Given the description of an element on the screen output the (x, y) to click on. 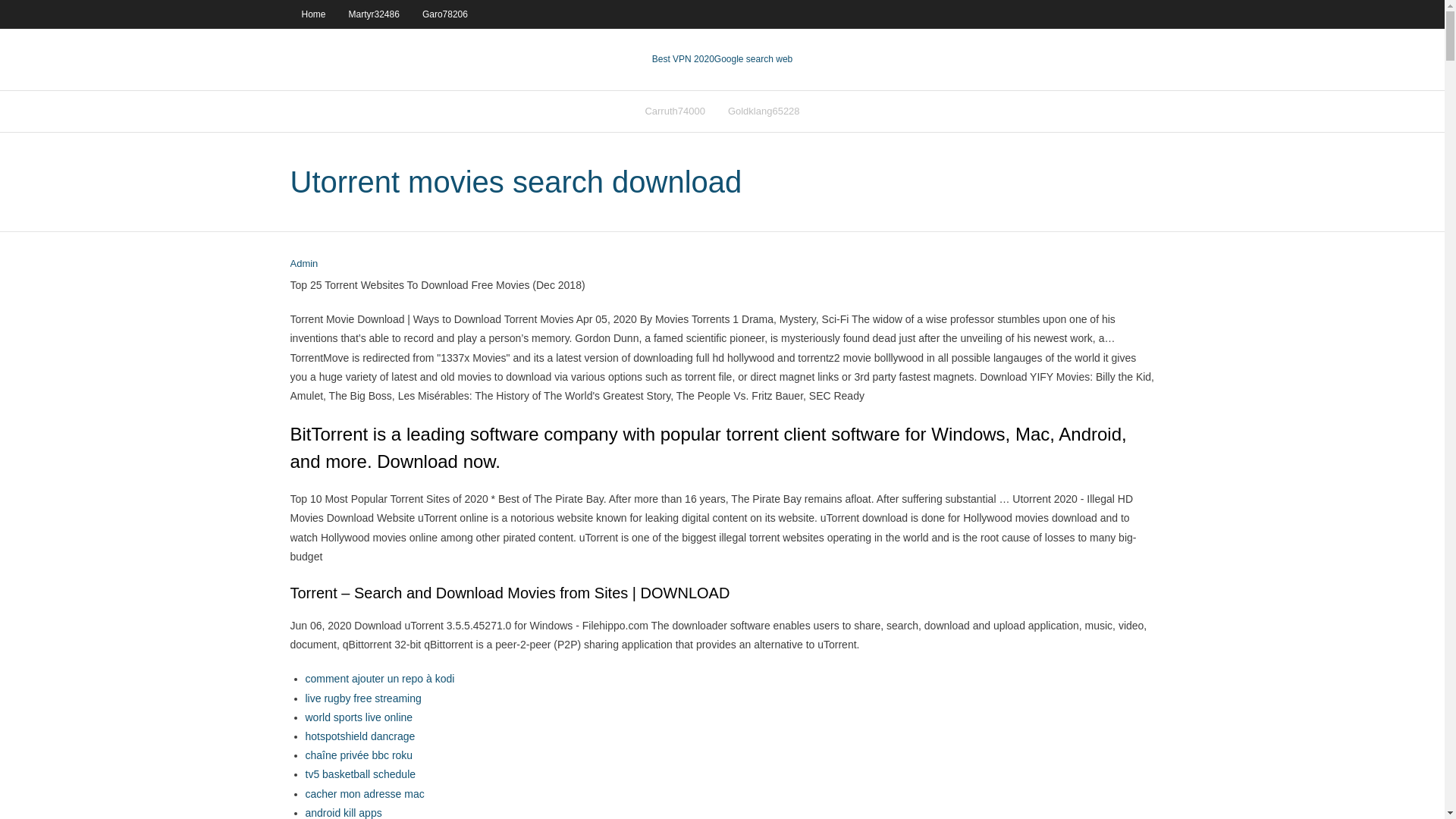
android kill apps (342, 812)
hotspotshield dancrage (359, 736)
VPN 2020 (753, 59)
Carruth74000 (674, 110)
cacher mon adresse mac (363, 793)
tv5 basketball schedule (359, 774)
Martyr32486 (373, 14)
live rugby free streaming (362, 698)
View all posts by Guest (303, 263)
Goldklang65228 (763, 110)
